Given the description of an element on the screen output the (x, y) to click on. 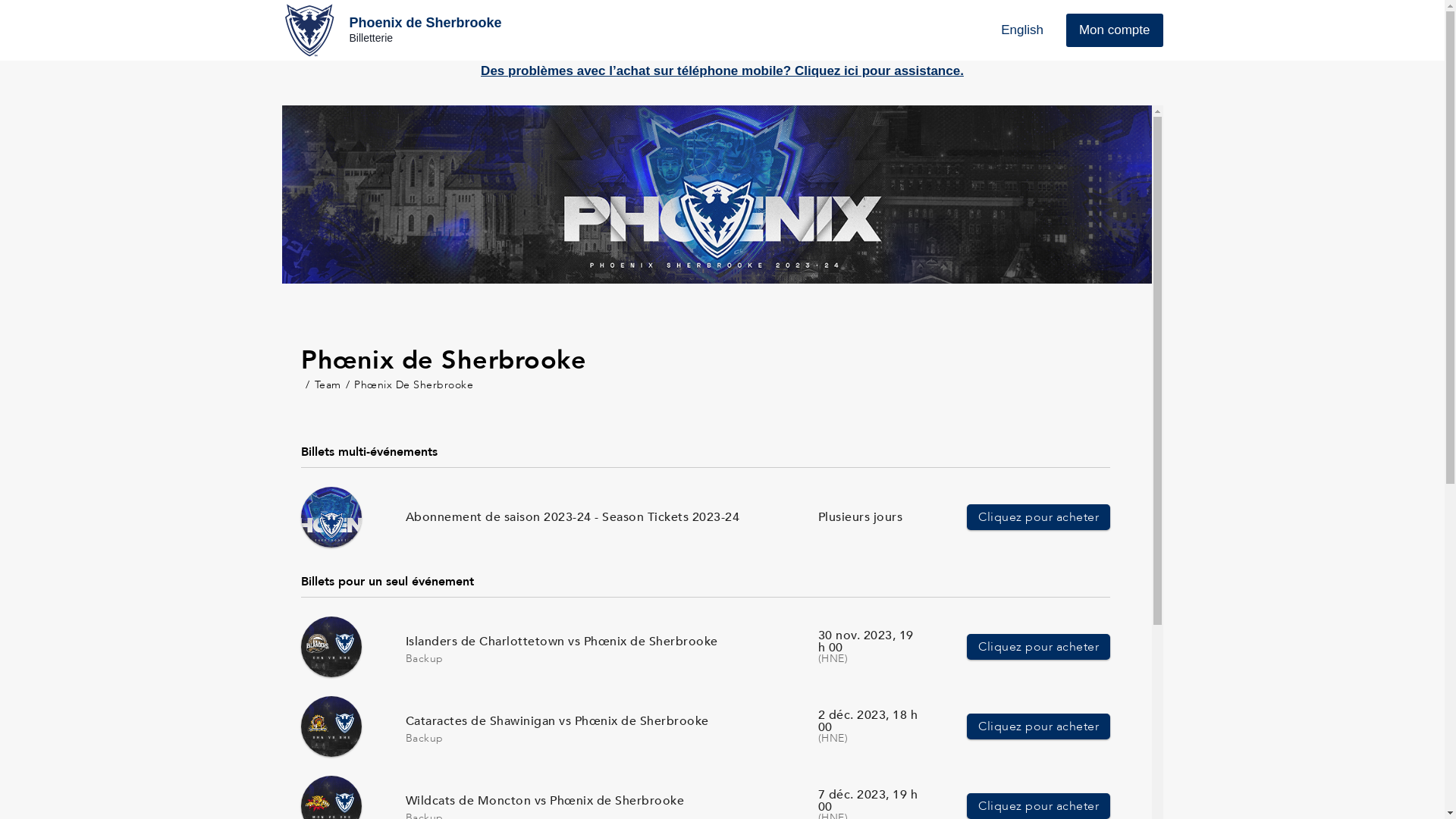
Mon compte Element type: text (1114, 30)
English Element type: text (1022, 29)
Phoenix de Sherbrooke
Billetterie Element type: text (392, 30)
